Given the description of an element on the screen output the (x, y) to click on. 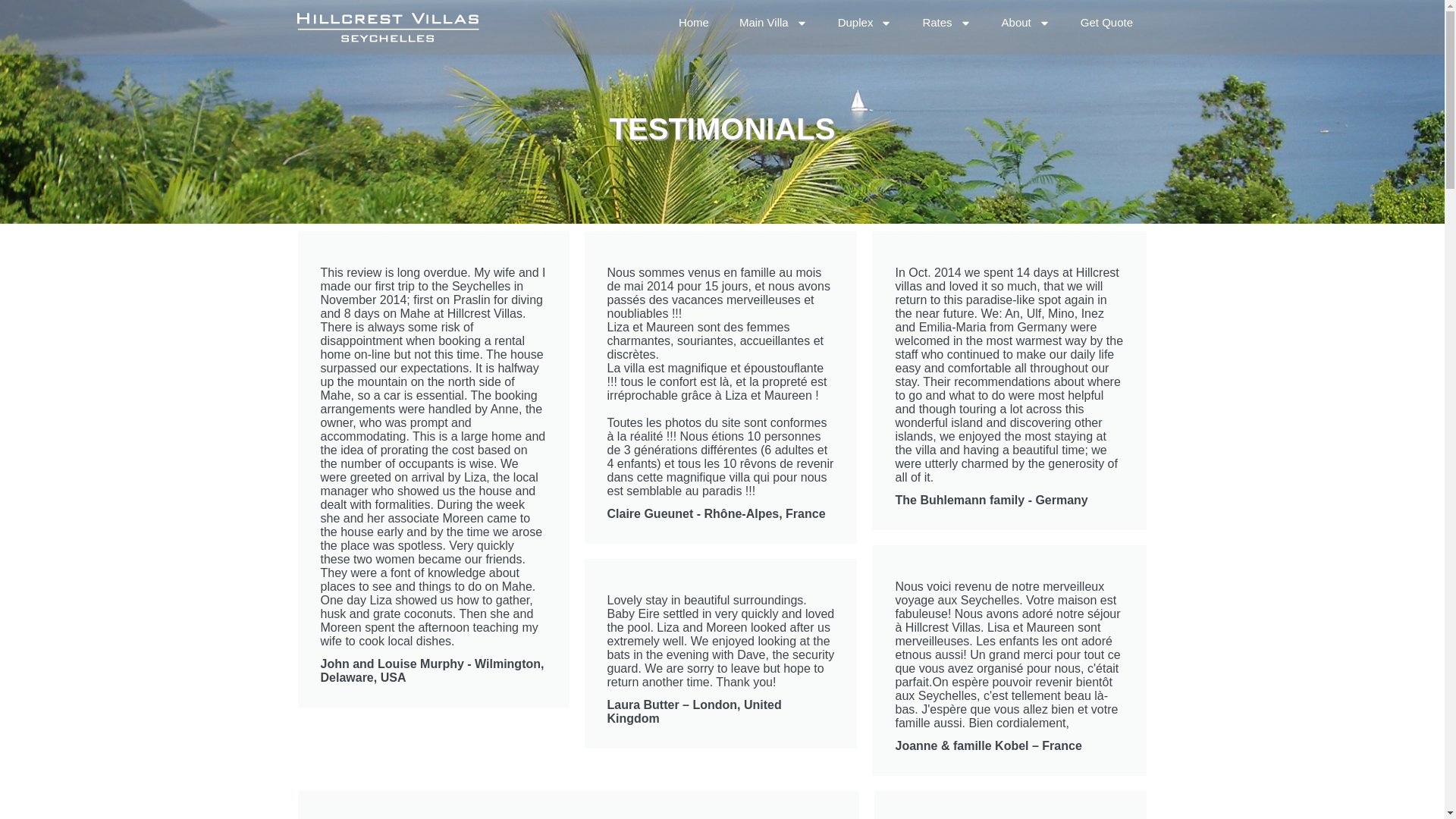
Duplex (864, 22)
Main Villa (772, 22)
About (1026, 22)
Rates (946, 22)
Home (693, 22)
Get Quote (1106, 22)
